Given the description of an element on the screen output the (x, y) to click on. 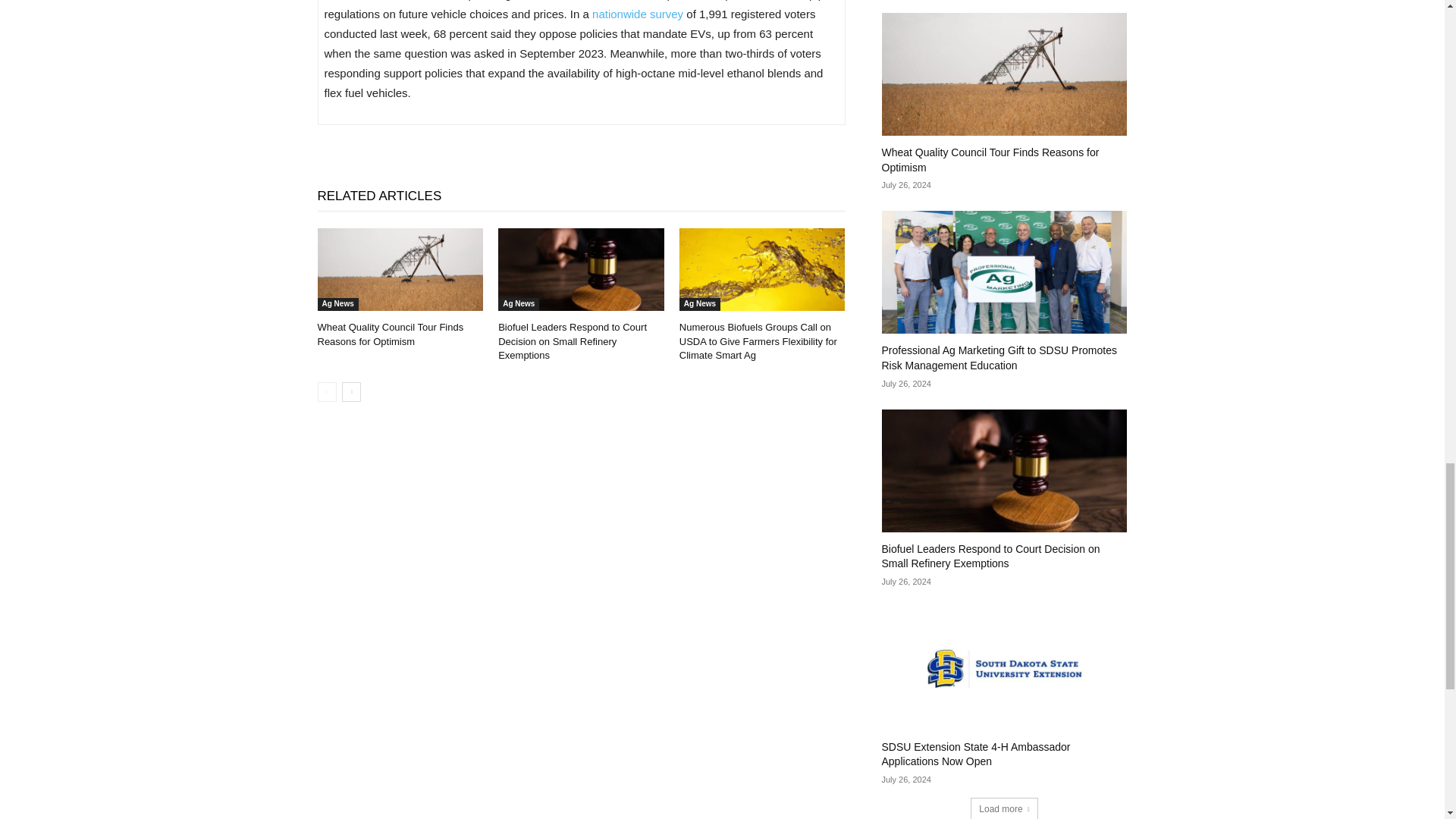
Wheat Quality Council Tour Finds Reasons for Optimism (390, 333)
Wheat Quality Council Tour Finds Reasons for Optimism (400, 269)
